Given the description of an element on the screen output the (x, y) to click on. 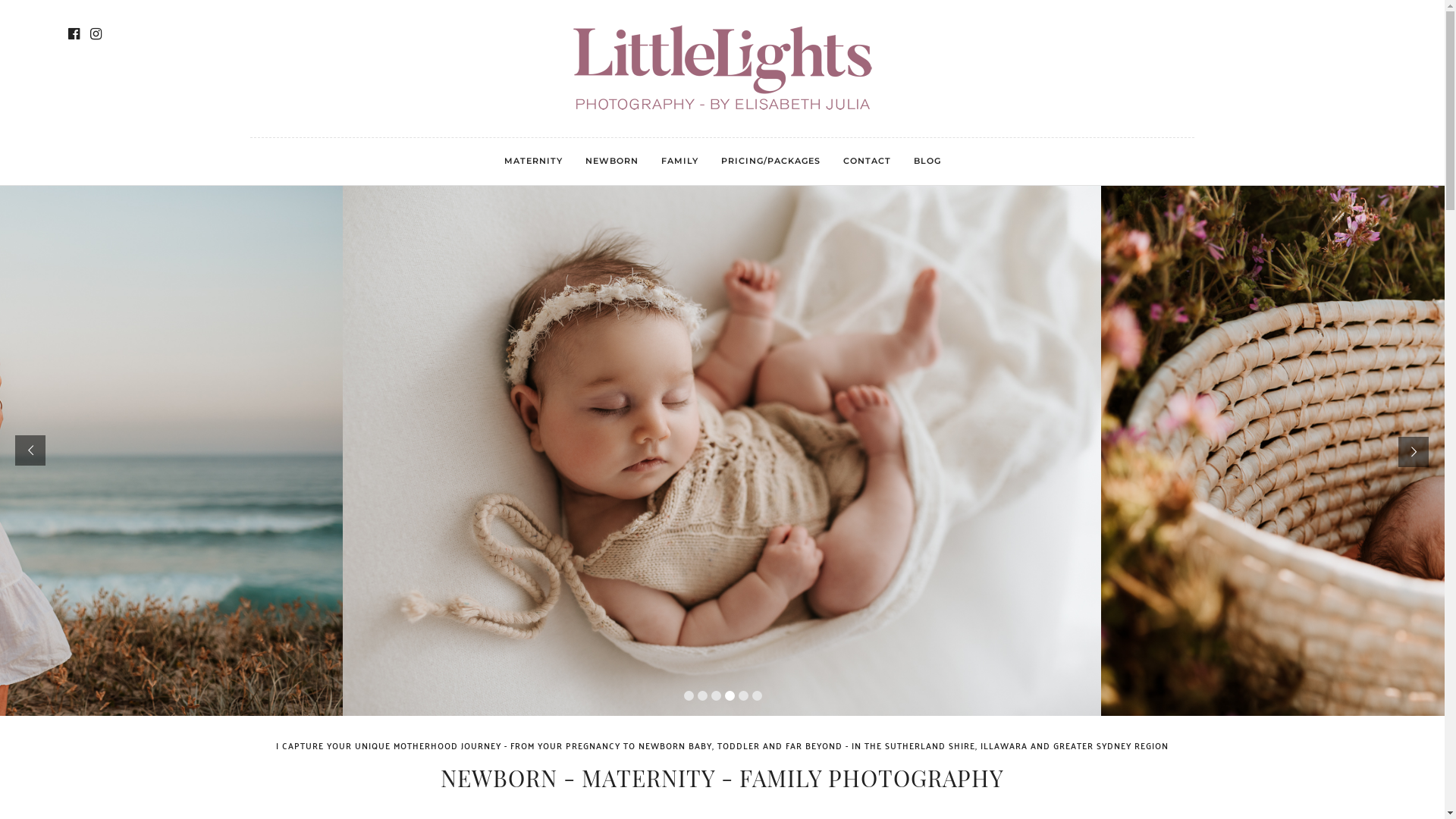
Facebook Element type: hover (73, 33)
FAMILY Element type: text (678, 161)
MATERNITY Element type: text (533, 161)
BLOG Element type: text (926, 161)
Instagram Element type: hover (95, 33)
PRICING/PACKAGES Element type: text (770, 161)
CONTACT Element type: text (866, 161)
NEWBORN Element type: text (610, 161)
